Given the description of an element on the screen output the (x, y) to click on. 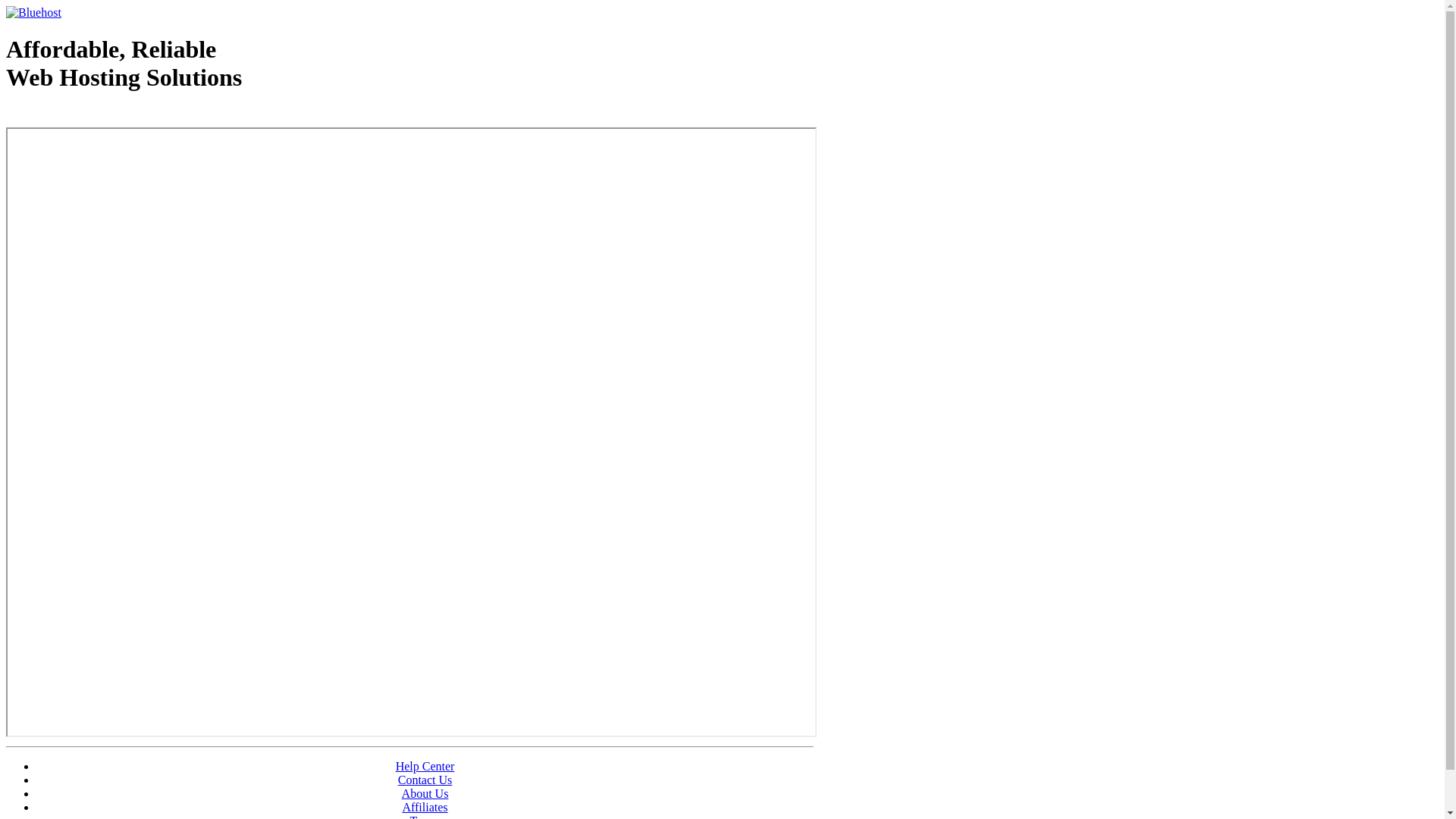
Help Center Element type: text (425, 765)
Web Hosting - courtesy of www.bluehost.com Element type: text (94, 115)
Affiliates Element type: text (424, 806)
Contact Us Element type: text (425, 779)
About Us Element type: text (424, 793)
